Given the description of an element on the screen output the (x, y) to click on. 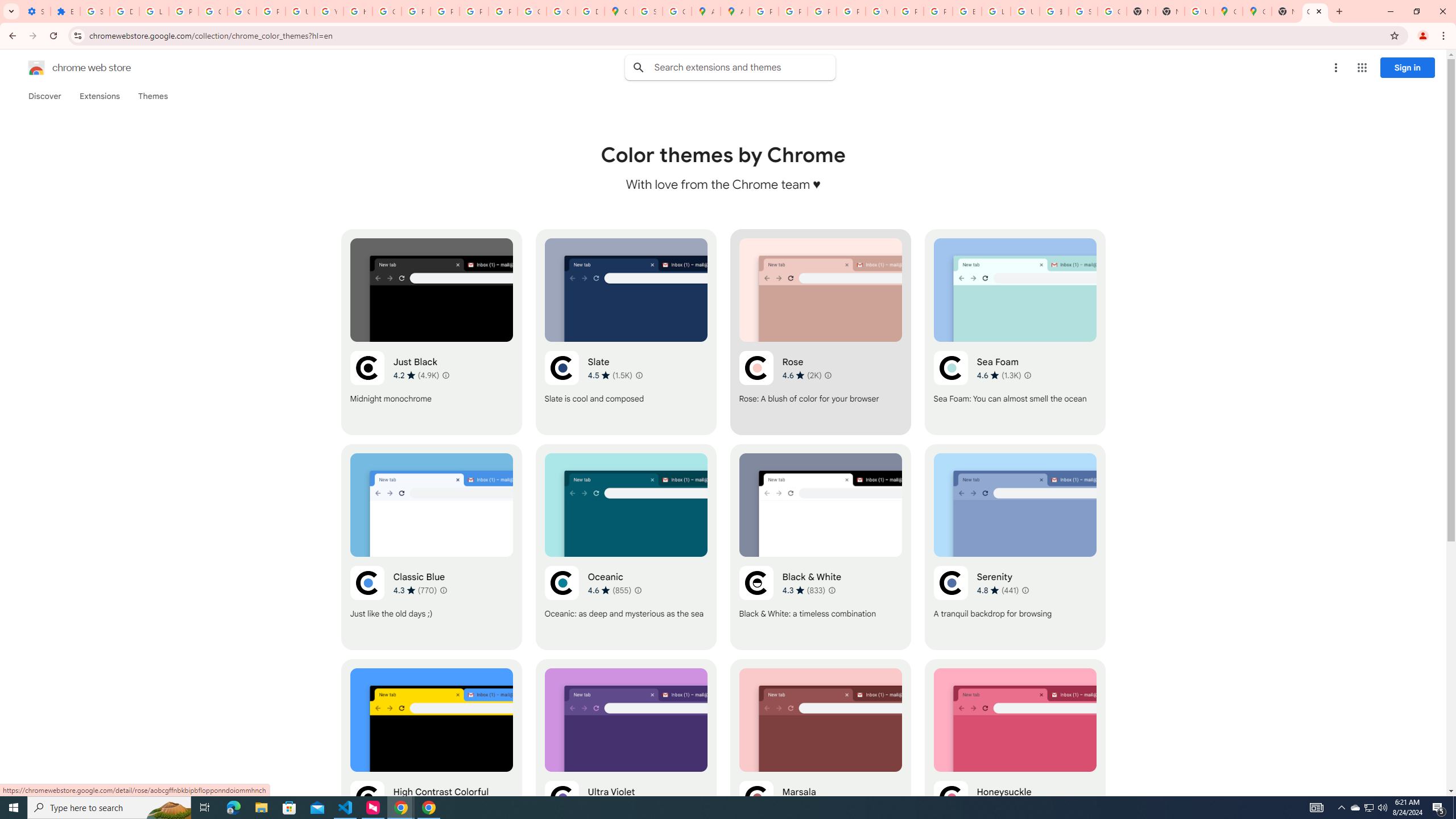
Sea Foam (1014, 331)
